Given the description of an element on the screen output the (x, y) to click on. 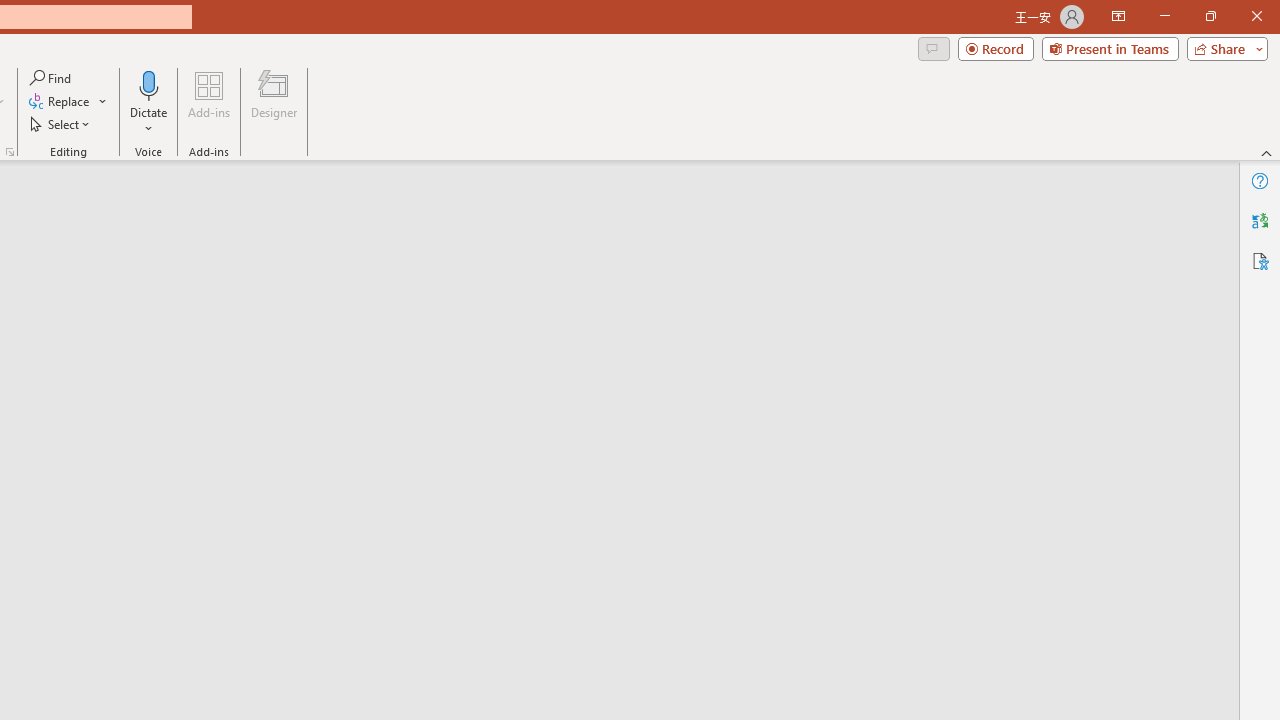
Find... (51, 78)
